Given the description of an element on the screen output the (x, y) to click on. 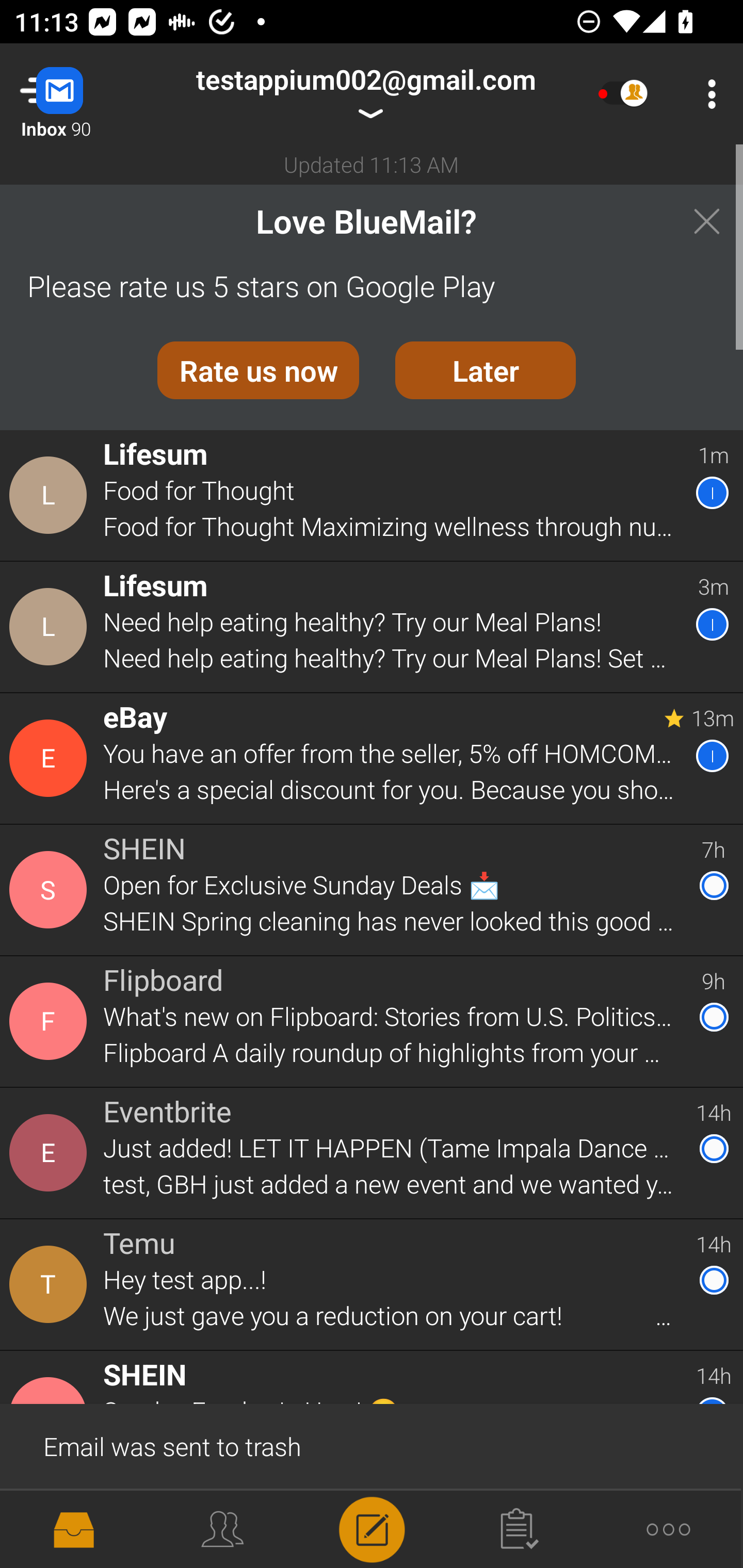
Navigate up (81, 93)
testappium002@gmail.com (365, 93)
More Options (706, 93)
Updated 11:13 AM (371, 164)
Rate us now (257, 370)
Later (485, 370)
Contact Details (50, 495)
Contact Details (50, 626)
Contact Details (50, 758)
Contact Details (50, 889)
Contact Details (50, 1021)
Contact Details (50, 1153)
Contact Details (50, 1284)
Email was sent to trash (371, 1445)
Compose (371, 1528)
